Given the description of an element on the screen output the (x, y) to click on. 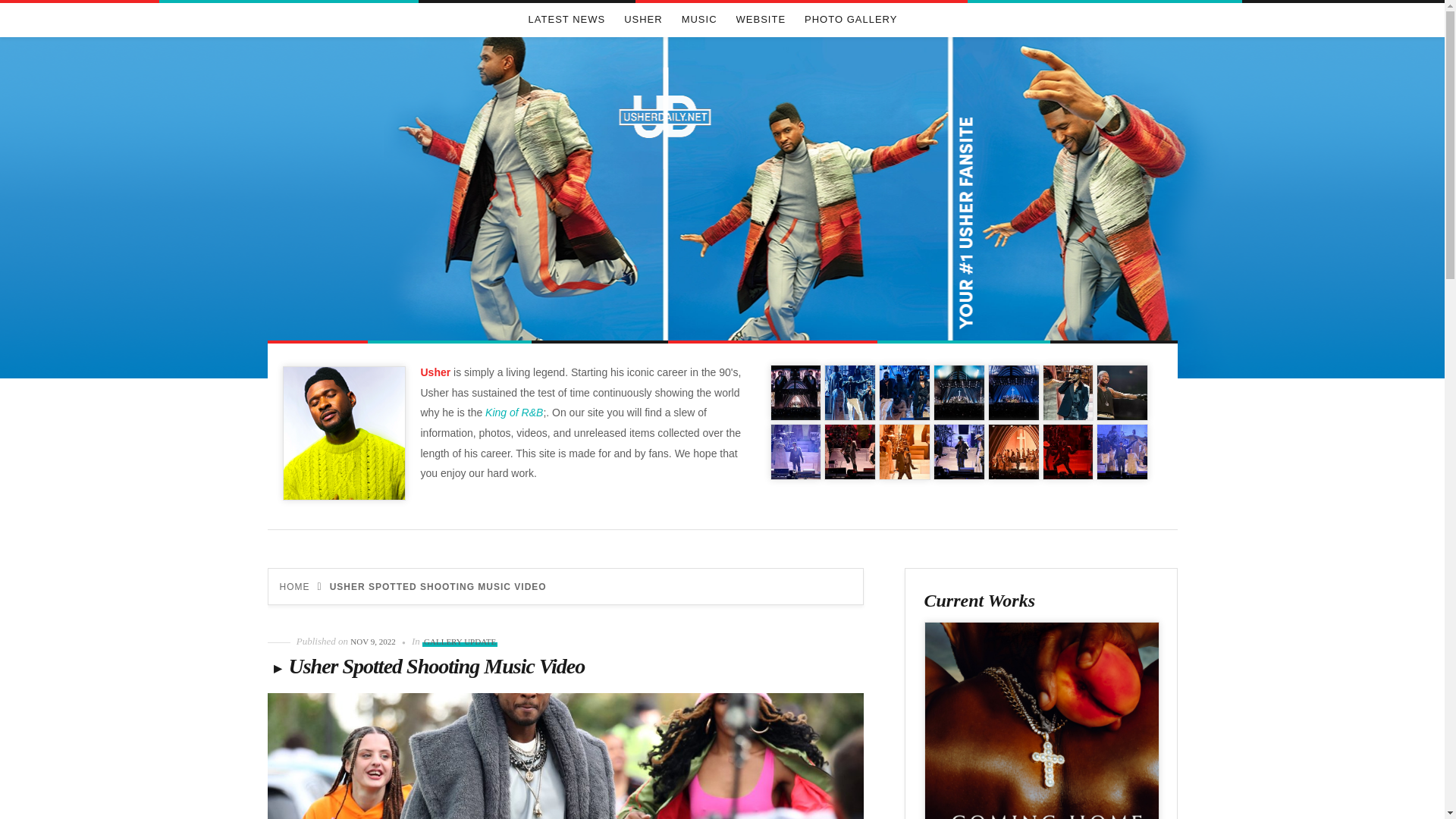
1 Views (1122, 451)
2 Views (959, 451)
4 Views (796, 451)
PHOTO GALLERY (850, 19)
6 Views (904, 392)
4 Views (796, 392)
5 Views (904, 451)
HOME (293, 586)
WEBSITE (761, 19)
4 Views (850, 451)
4 Views (1068, 392)
LATEST NEWS (566, 19)
2 Views (1068, 451)
4 Views (1122, 392)
3 Views (959, 392)
